Given the description of an element on the screen output the (x, y) to click on. 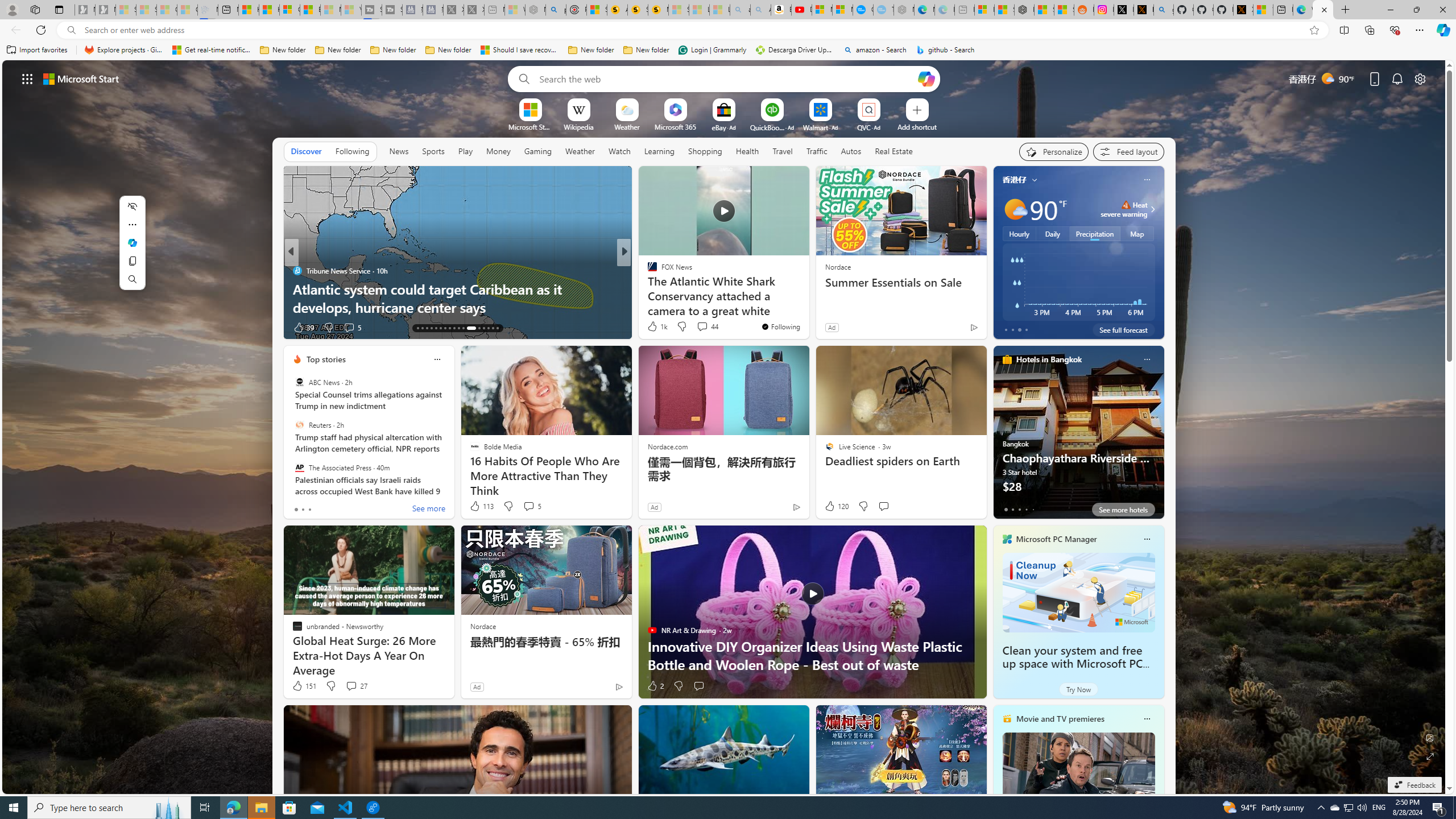
View comments 5 Comment (532, 505)
Heat - Severe (1126, 204)
Import favorites (36, 49)
2 Like (655, 685)
tab-2 (1019, 509)
Mostly sunny (1014, 208)
Should I save recovered Word documents? - Microsoft Support (519, 49)
Amazon Echo Dot PNG - Search Images - Sleeping (760, 9)
More actions (132, 224)
